Given the description of an element on the screen output the (x, y) to click on. 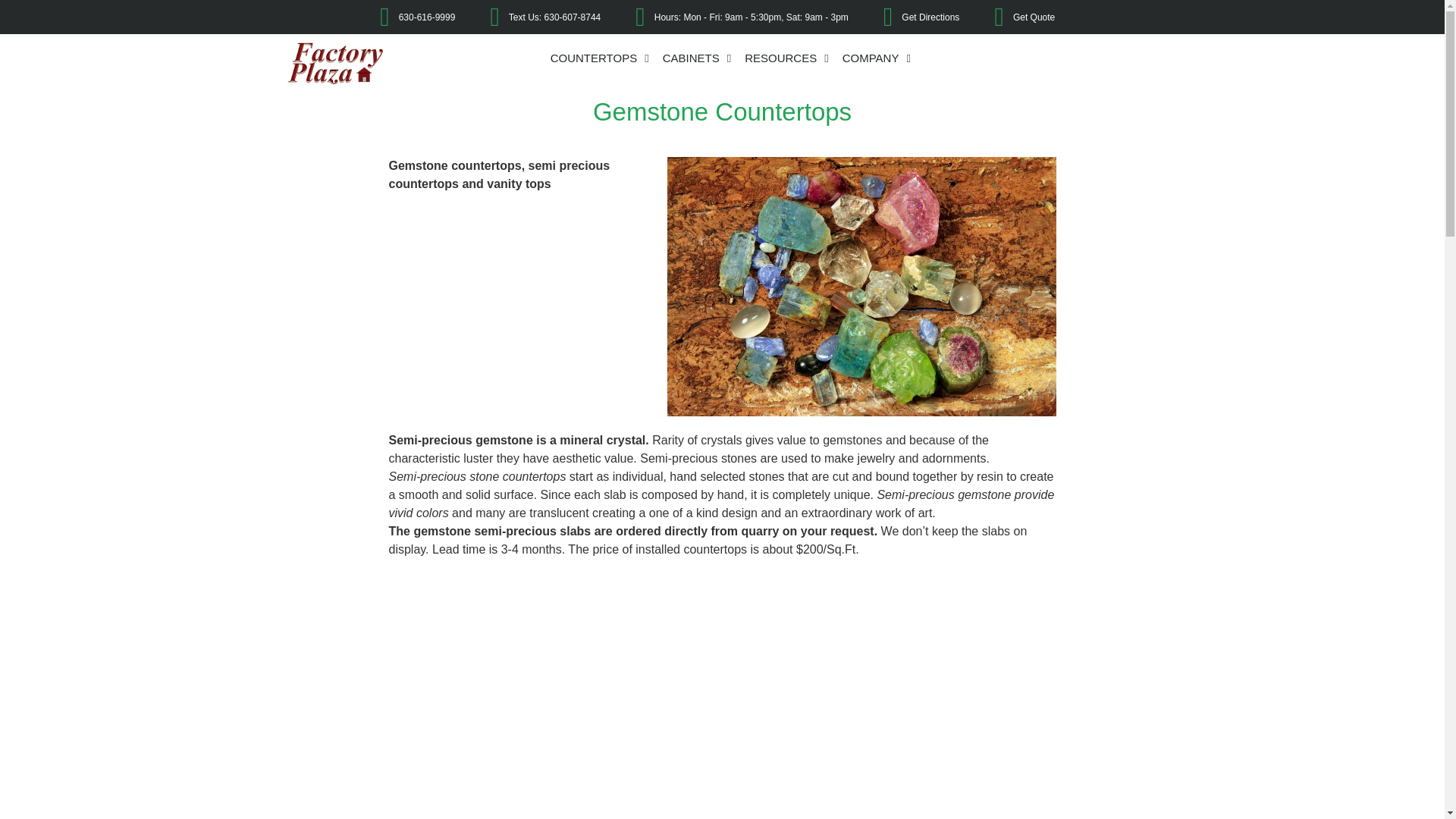
Get Directions (909, 17)
Get Quote (1012, 17)
630-616-9999 (405, 17)
Gemstone Countertops 1 (861, 286)
COUNTERTOPS (599, 58)
Text Us: 630-607-8744 (533, 17)
RESOURCES (786, 58)
CABINETS (697, 58)
